Given the description of an element on the screen output the (x, y) to click on. 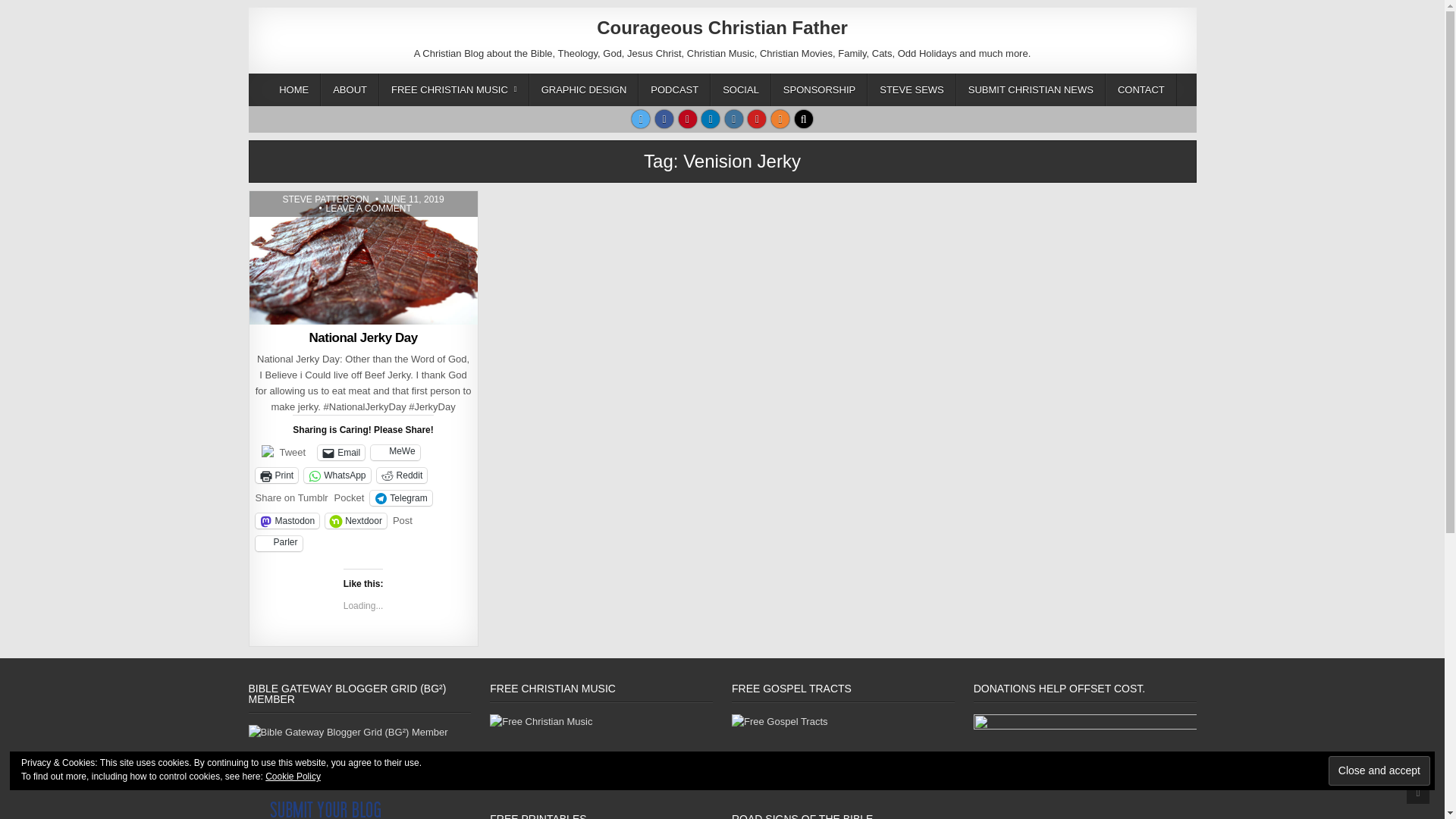
Email (341, 452)
CONTACT (1140, 89)
Instagram (733, 118)
WhatsApp (336, 475)
Print (276, 475)
SOCIAL (740, 89)
STEVE SEWS (911, 89)
Click to share on Reddit (402, 475)
National Jerky Day (362, 337)
GRAPHIC DESIGN (584, 89)
